Given the description of an element on the screen output the (x, y) to click on. 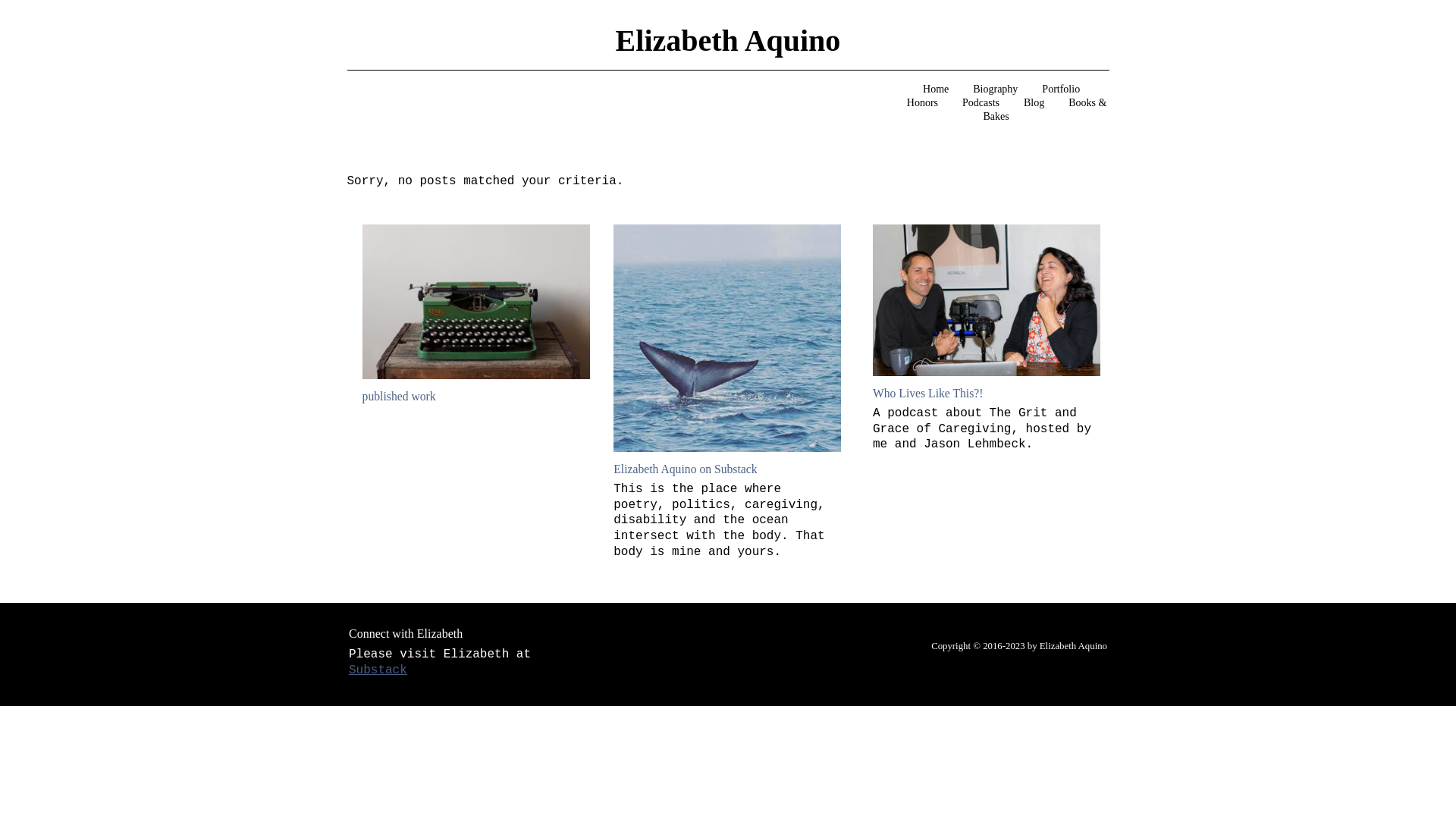
Blog (1033, 102)
Biography (994, 89)
Portfolio (1060, 89)
published work (398, 395)
Substack (378, 670)
Who Lives Like This?! (928, 392)
Honors (922, 102)
Podcasts (981, 102)
Elizabeth Aquino on Substack (684, 468)
Elizabeth Aquino (728, 40)
Home (935, 89)
